Given the description of an element on the screen output the (x, y) to click on. 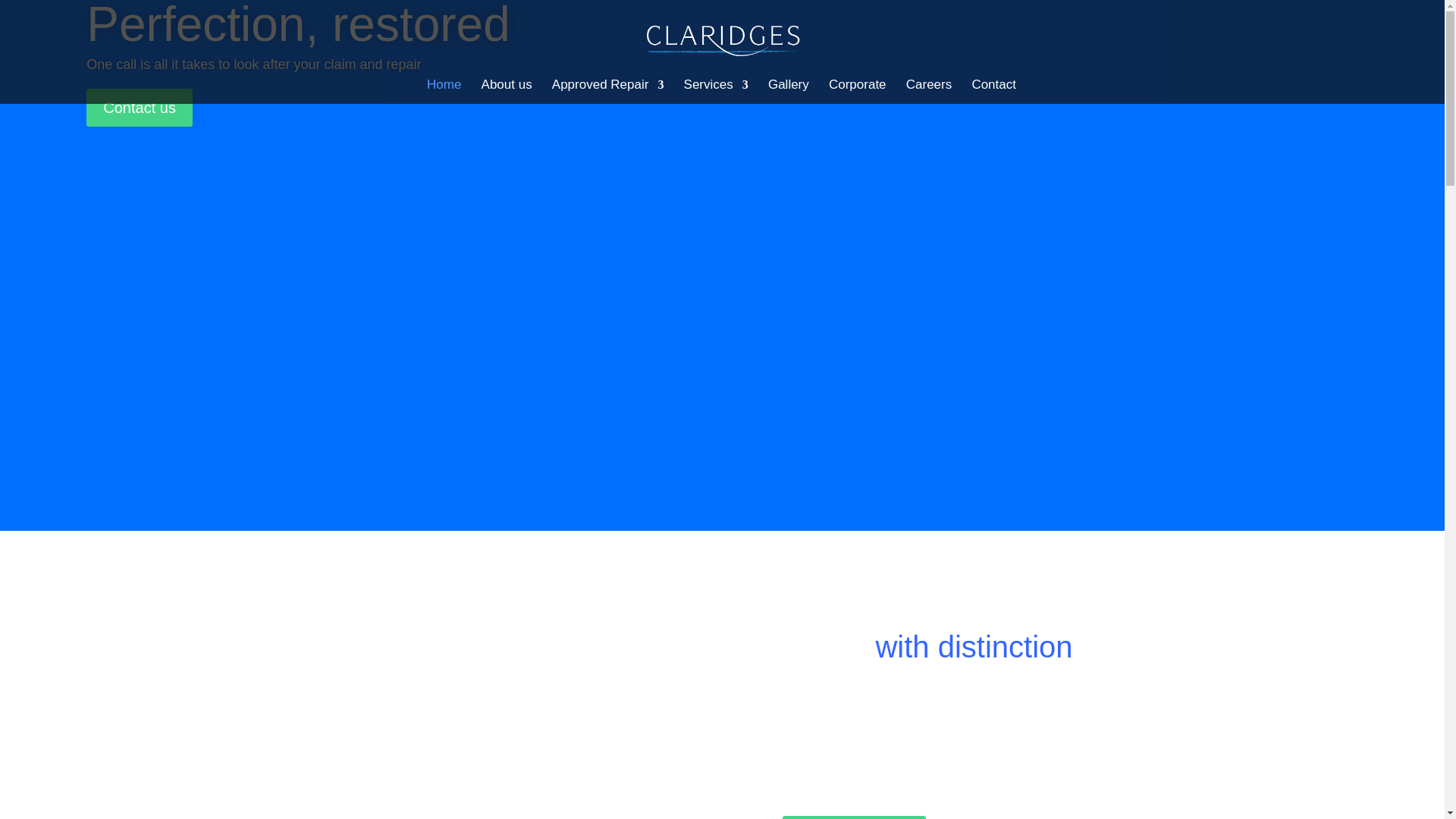
Get an estimate (854, 817)
Approved Repair (607, 91)
Contact (993, 91)
About us (506, 91)
Gallery (788, 91)
Corporate (857, 91)
Services (716, 91)
Home (443, 91)
Careers (928, 91)
